Given the description of an element on the screen output the (x, y) to click on. 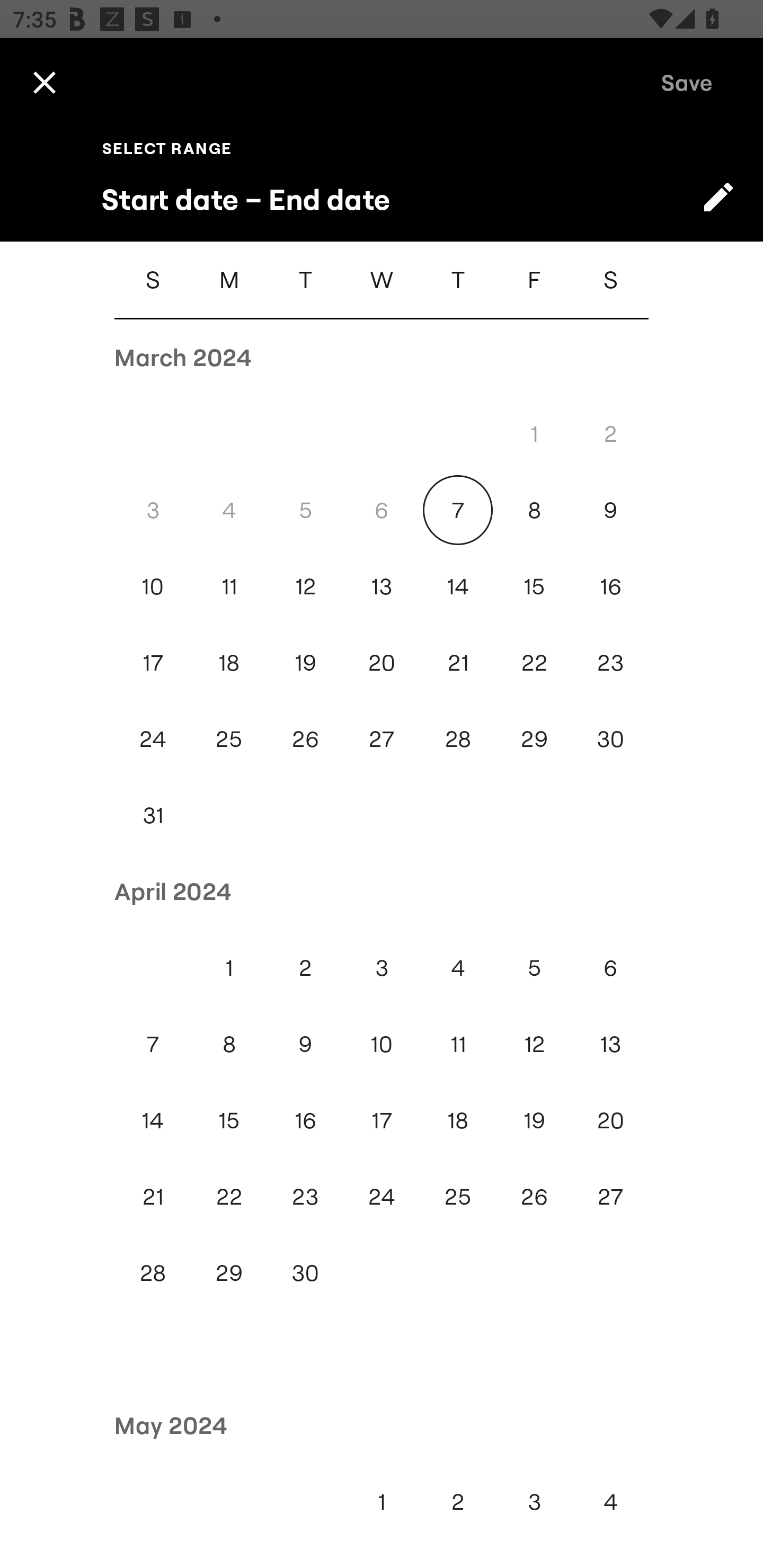
Cancel (44, 81)
Save (686, 81)
Switch to text input mode (718, 196)
1 Fri, Mar 1 (533, 433)
2 Sat, Mar 2 (610, 433)
3 Sun, Mar 3 (152, 509)
4 Mon, Mar 4 (228, 509)
5 Tue, Mar 5 (305, 509)
6 Wed, Mar 6 (381, 509)
7 Thu, Mar 7 (457, 509)
8 Fri, Mar 8 (533, 509)
9 Sat, Mar 9 (610, 509)
10 Sun, Mar 10 (152, 586)
11 Mon, Mar 11 (228, 586)
12 Tue, Mar 12 (305, 586)
13 Wed, Mar 13 (381, 586)
14 Thu, Mar 14 (457, 586)
15 Fri, Mar 15 (533, 586)
16 Sat, Mar 16 (610, 586)
17 Sun, Mar 17 (152, 662)
18 Mon, Mar 18 (228, 662)
19 Tue, Mar 19 (305, 662)
20 Wed, Mar 20 (381, 662)
21 Thu, Mar 21 (457, 662)
22 Fri, Mar 22 (533, 662)
23 Sat, Mar 23 (610, 662)
24 Sun, Mar 24 (152, 738)
25 Mon, Mar 25 (228, 738)
26 Tue, Mar 26 (305, 738)
27 Wed, Mar 27 (381, 738)
28 Thu, Mar 28 (457, 738)
29 Fri, Mar 29 (533, 738)
30 Sat, Mar 30 (610, 738)
31 Sun, Mar 31 (152, 814)
1 Mon, Apr 1 (228, 967)
2 Tue, Apr 2 (305, 967)
3 Wed, Apr 3 (381, 967)
4 Thu, Apr 4 (457, 967)
5 Fri, Apr 5 (533, 967)
6 Sat, Apr 6 (610, 967)
7 Sun, Apr 7 (152, 1043)
8 Mon, Apr 8 (228, 1043)
9 Tue, Apr 9 (305, 1043)
10 Wed, Apr 10 (381, 1043)
11 Thu, Apr 11 (457, 1043)
12 Fri, Apr 12 (533, 1043)
13 Sat, Apr 13 (610, 1043)
14 Sun, Apr 14 (152, 1119)
15 Mon, Apr 15 (228, 1119)
16 Tue, Apr 16 (305, 1119)
17 Wed, Apr 17 (381, 1119)
18 Thu, Apr 18 (457, 1119)
19 Fri, Apr 19 (533, 1119)
20 Sat, Apr 20 (610, 1119)
21 Sun, Apr 21 (152, 1196)
22 Mon, Apr 22 (228, 1196)
23 Tue, Apr 23 (305, 1196)
24 Wed, Apr 24 (381, 1196)
25 Thu, Apr 25 (457, 1196)
26 Fri, Apr 26 (533, 1196)
27 Sat, Apr 27 (610, 1196)
28 Sun, Apr 28 (152, 1272)
29 Mon, Apr 29 (228, 1272)
30 Tue, Apr 30 (305, 1272)
1 Wed, May 1 (381, 1500)
2 Thu, May 2 (457, 1500)
3 Fri, May 3 (533, 1500)
4 Sat, May 4 (610, 1500)
